Given the description of an element on the screen output the (x, y) to click on. 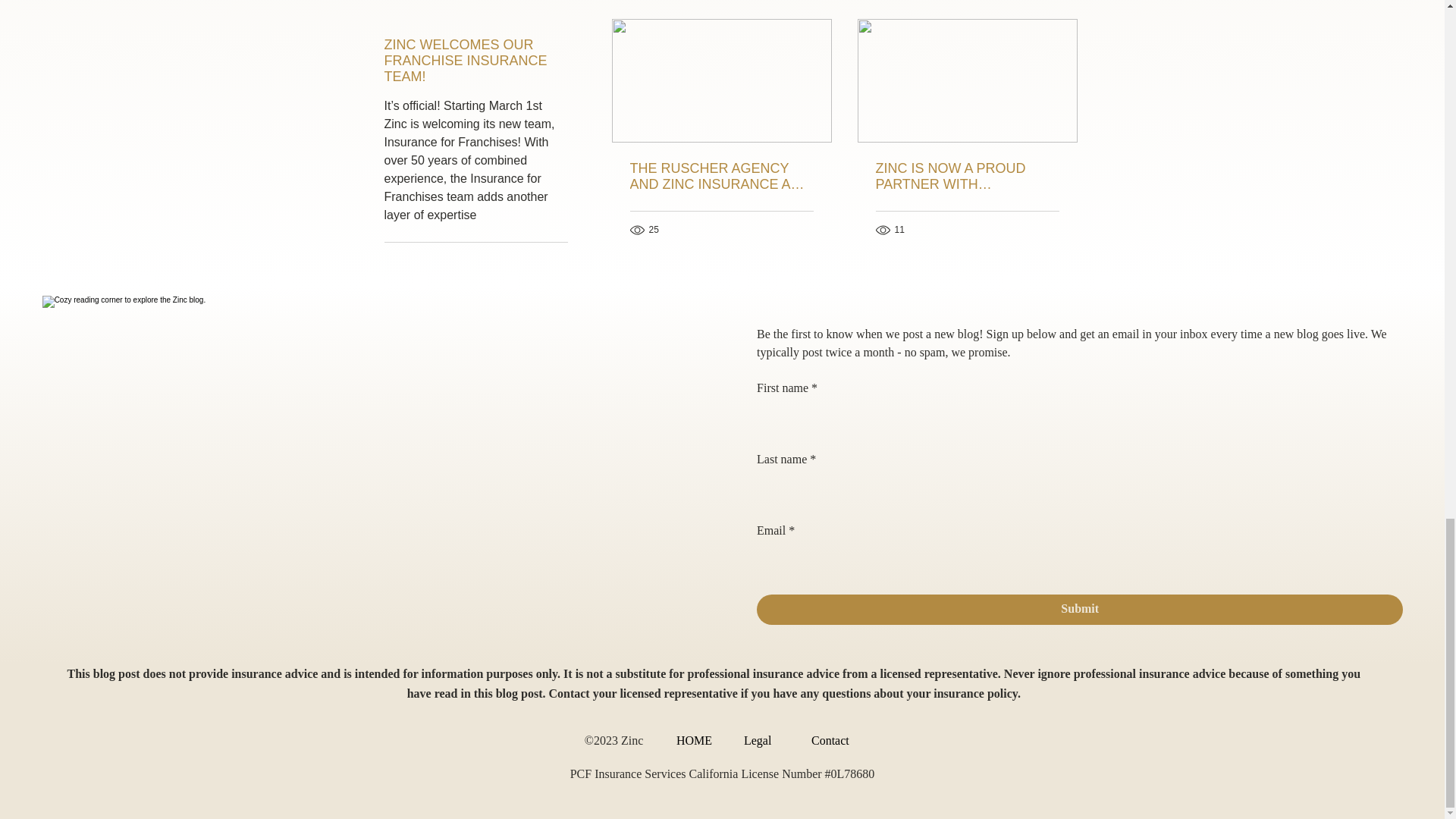
ZINC WELCOMES OUR FRANCHISE INSURANCE TEAM! (475, 60)
Submit (1080, 609)
THE RUSCHER AGENCY AND ZINC INSURANCE ARE MERGING! (720, 176)
HOME (698, 740)
ZINC IS NOW A PROUD PARTNER WITH NATIONWIDE! (966, 176)
See All (1061, 2)
Legal (765, 740)
Contact (833, 740)
